Given the description of an element on the screen output the (x, y) to click on. 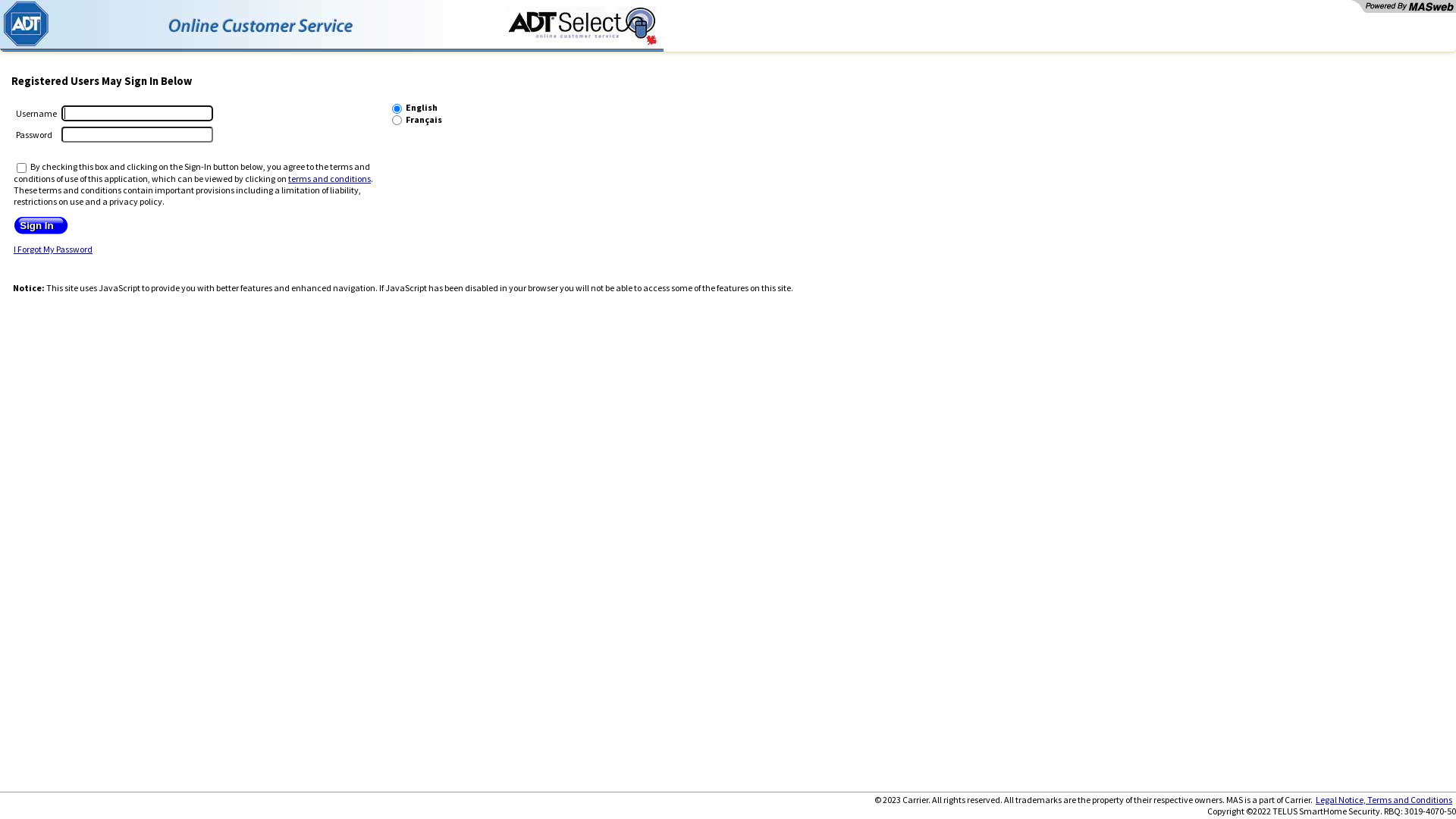
terms and conditions Element type: text (329, 178)
Y Element type: text (21, 167)
ENU Element type: text (396, 108)
FRC Element type: text (396, 120)
LogToolTip Element type: hover (331, 25)
Legal Notice, Terms and Conditions Element type: text (1383, 799)
I Forgot My Password Element type: text (52, 248)
